Given the description of an element on the screen output the (x, y) to click on. 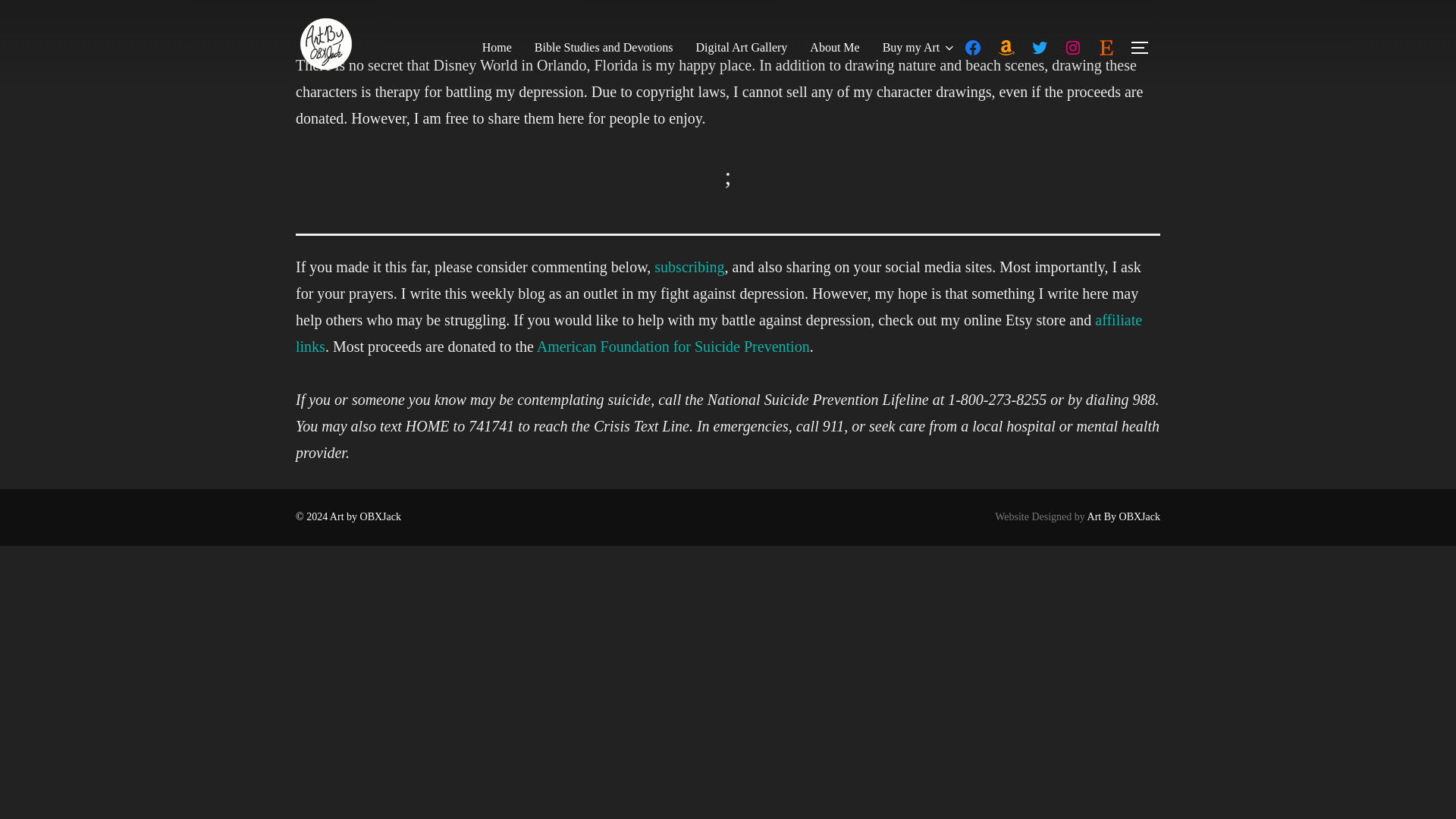
Art By OBXJack (1123, 516)
American Foundation for Suicide Prevention (673, 346)
Facebook (972, 46)
Amazon (1005, 46)
Bible Studies and Devotions (603, 47)
affiliate links (718, 333)
Instagram (1072, 46)
subscribing (688, 266)
Buy my Art (919, 47)
Home (496, 47)
